Given the description of an element on the screen output the (x, y) to click on. 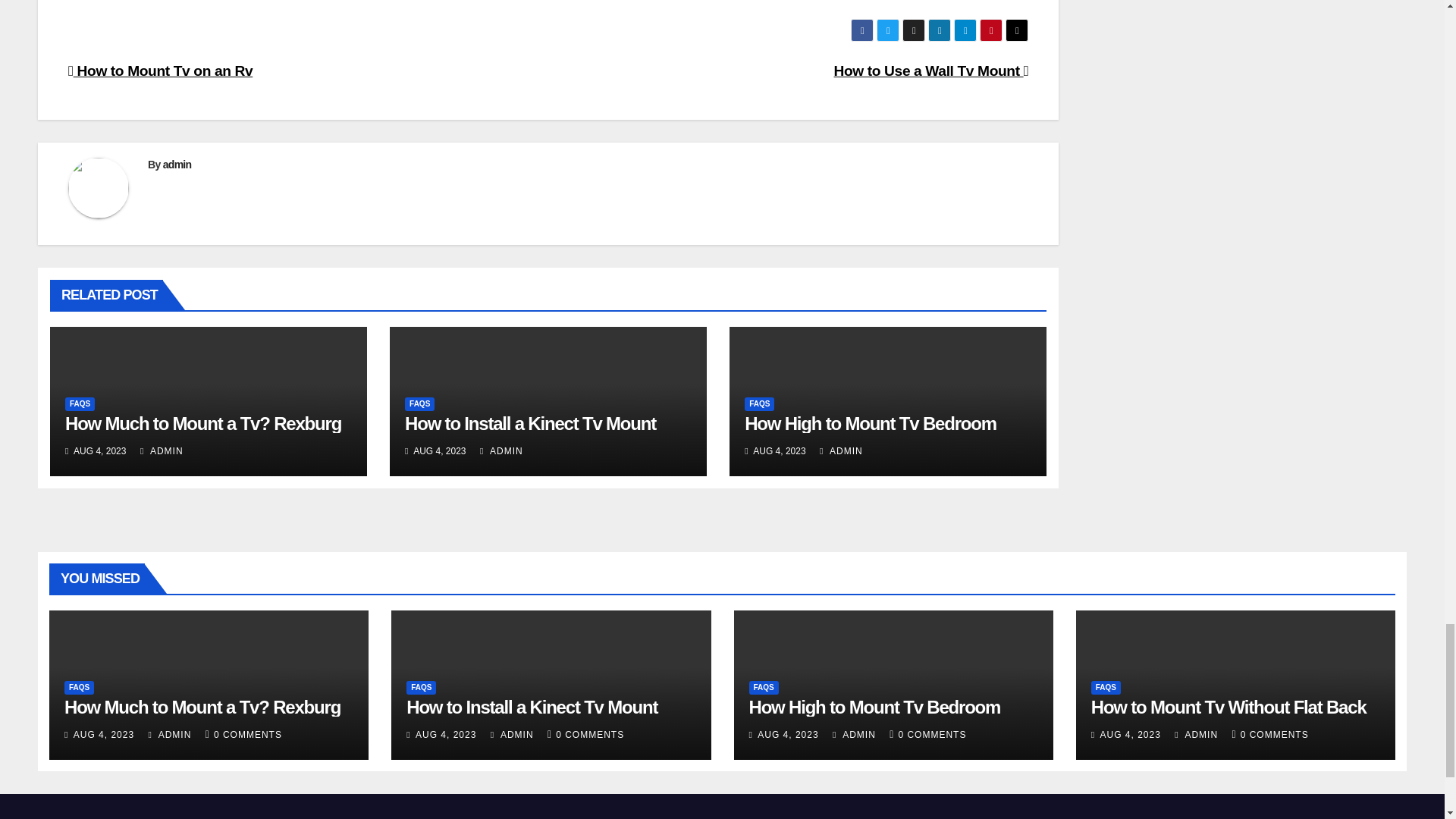
Permalink to: How to Install a Kinect Tv Mount (530, 423)
How to Use a Wall Tv Mount (931, 70)
Permalink to: How High to Mount Tv Bedroom (869, 423)
Permalink to: How Much to Mount a Tv? Rexburg (202, 423)
Permalink to: How Much to Mount a Tv? Rexburg (202, 706)
How to Mount Tv on an Rv (159, 70)
